Given the description of an element on the screen output the (x, y) to click on. 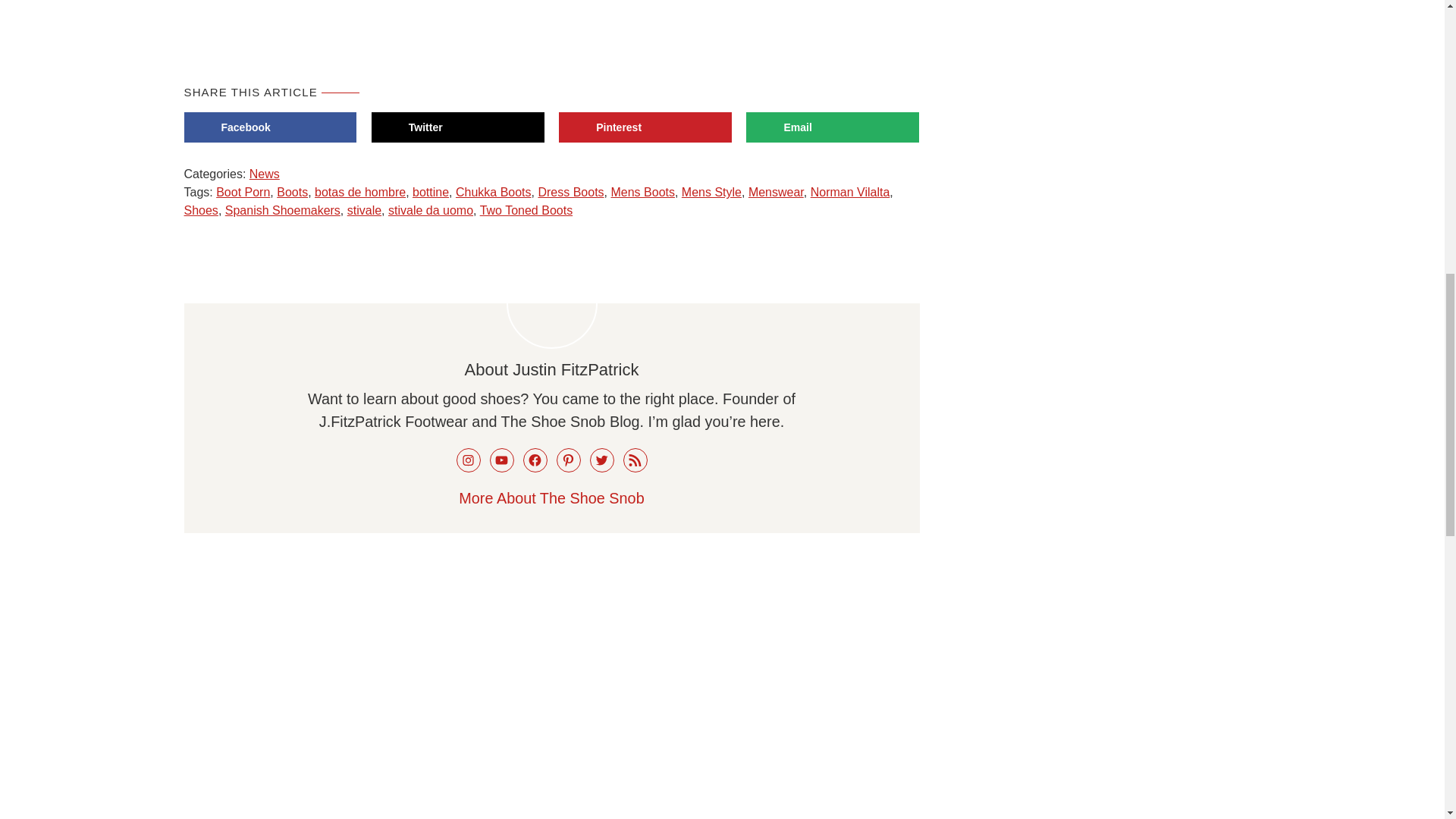
Share on X (457, 127)
Save to Pinterest (645, 127)
Send over email (831, 127)
Share on Facebook (269, 127)
